Given the description of an element on the screen output the (x, y) to click on. 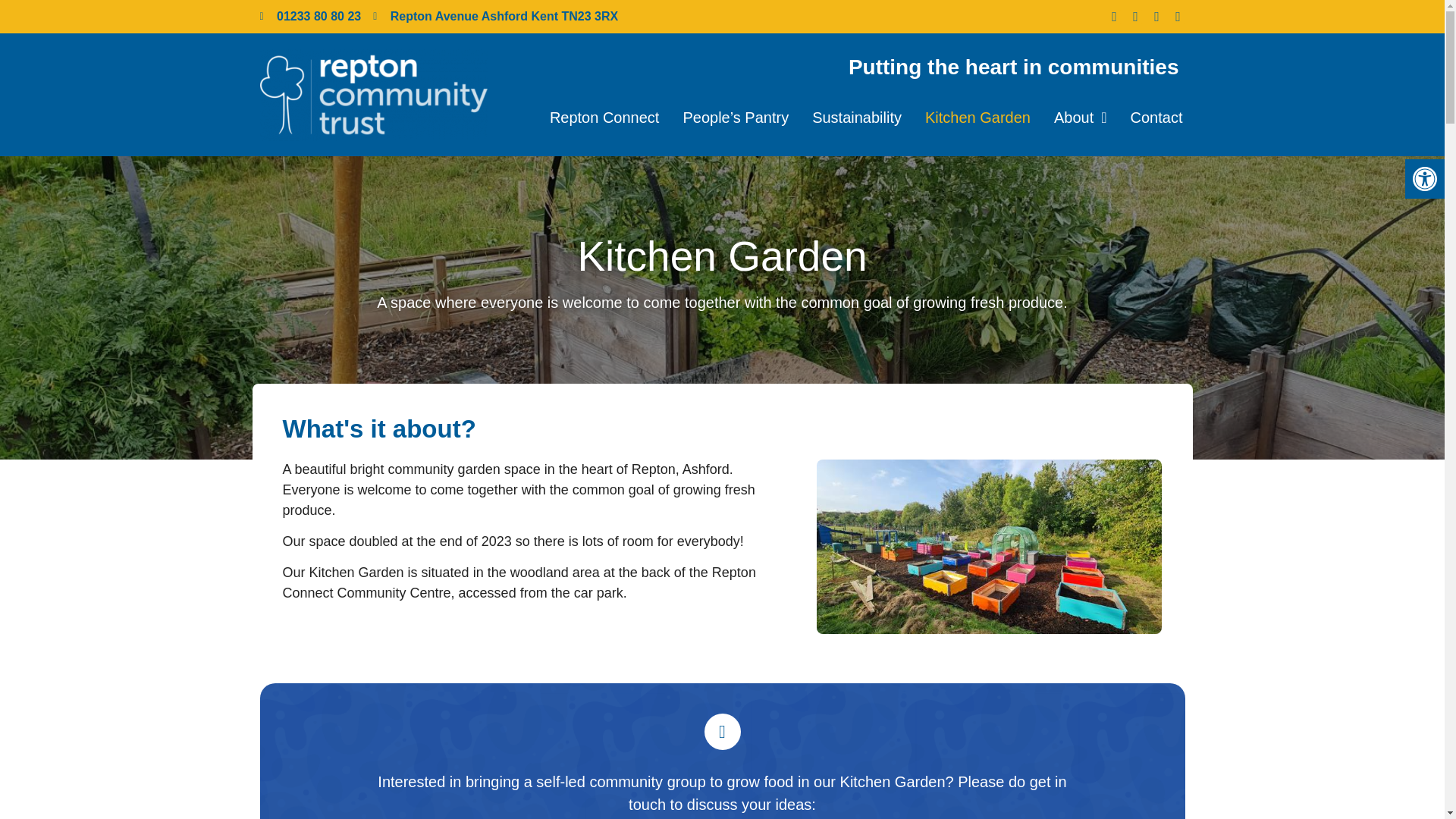
Kitchen Garden (978, 117)
Repton Connect (604, 117)
Contact (1156, 117)
Sustainability (856, 117)
Accessibility Tools (1424, 178)
About (1079, 117)
